Given the description of an element on the screen output the (x, y) to click on. 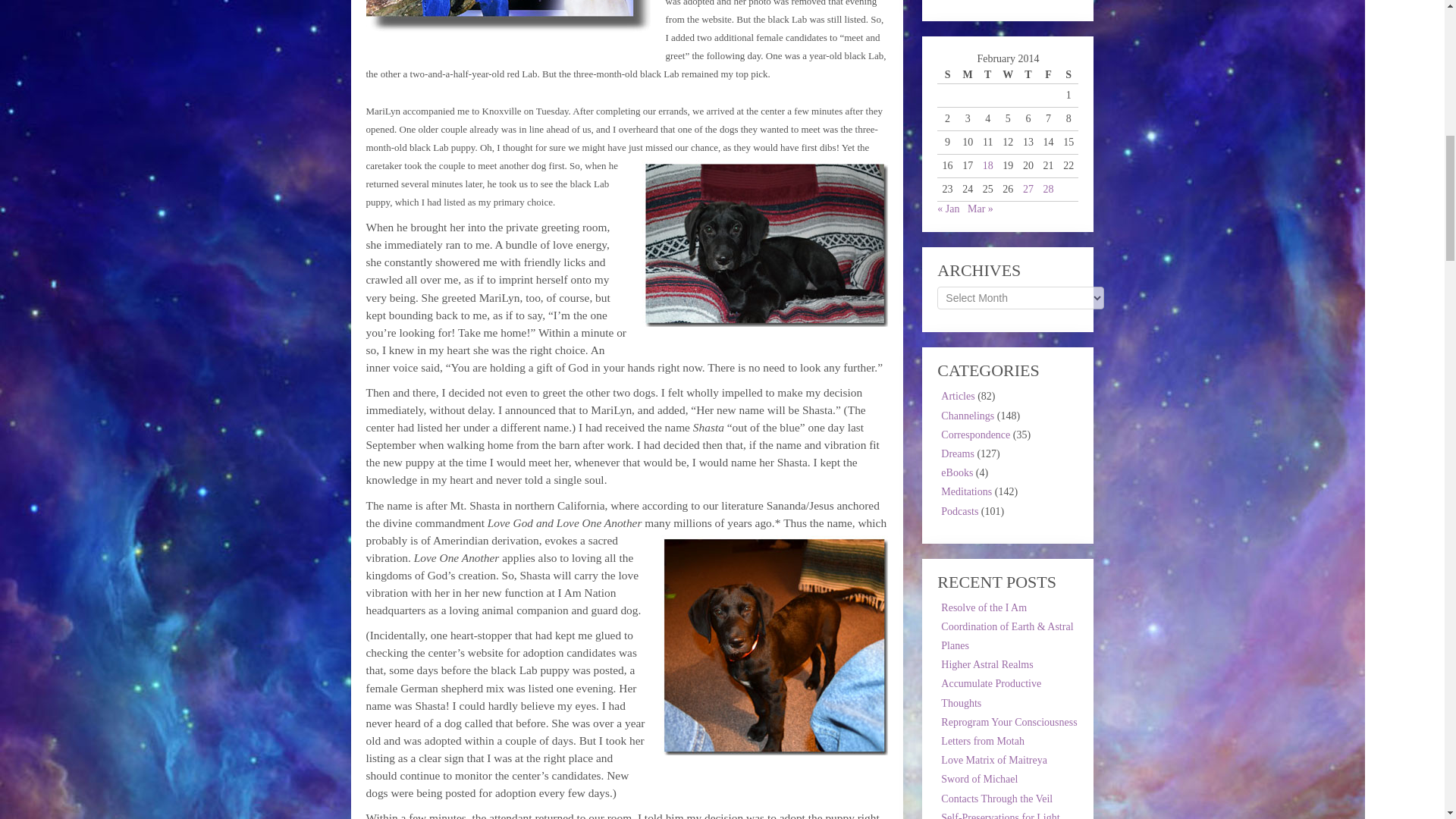
Tuesday (986, 75)
Sunday (947, 75)
Wednesday (1007, 75)
Thursday (1028, 75)
Monday (968, 75)
